Given the description of an element on the screen output the (x, y) to click on. 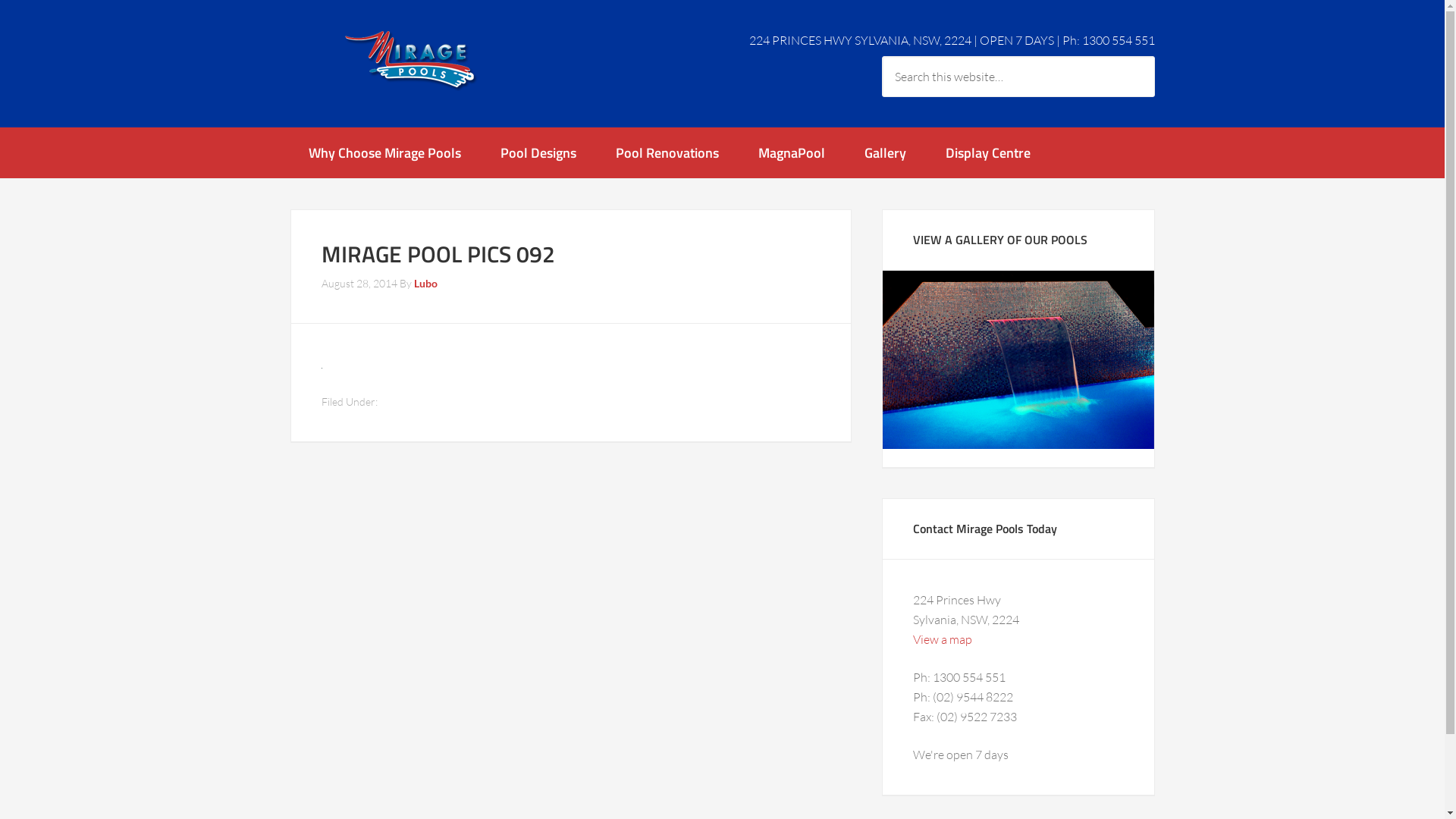
Gallery Element type: text (885, 152)
MagnaPool Element type: text (791, 152)
View a map Element type: text (942, 638)
Lubo Element type: text (425, 282)
Display Centre Element type: text (987, 152)
Pool Renovations Element type: text (667, 152)
Pool Designs Element type: text (538, 152)
Why Choose Mirage Pools Element type: text (383, 152)
Gallery Element type: hover (1018, 359)
Mirage Pools Element type: text (410, 60)
224 PRINCES HWY SYLVANIA, NSW, 2224 Element type: text (860, 39)
Search Element type: text (1154, 55)
